Given the description of an element on the screen output the (x, y) to click on. 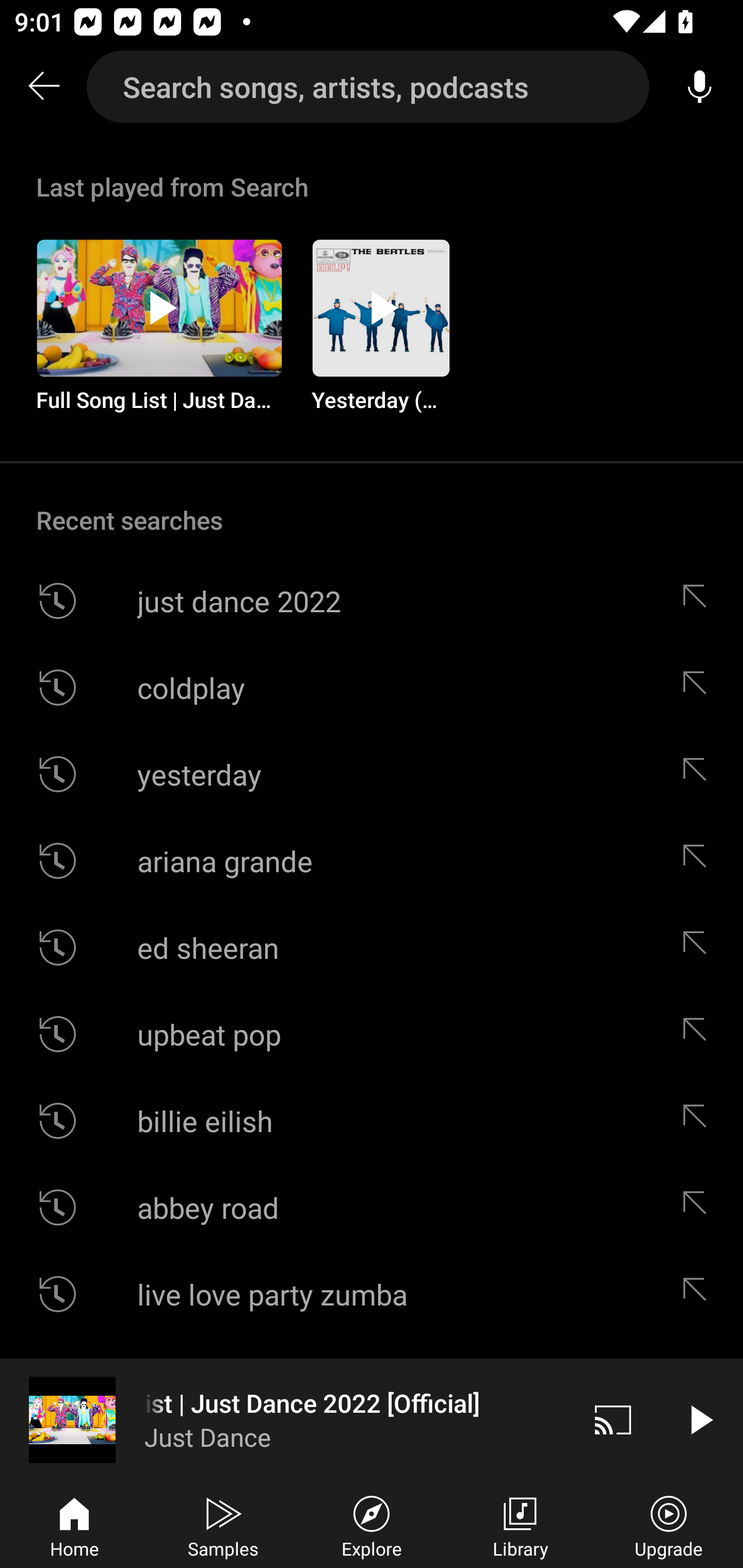
Search back (43, 86)
Search songs, artists, podcasts (367, 86)
Voice search (699, 86)
just dance 2022 Edit suggestion just dance 2022 (371, 601)
Edit suggestion just dance 2022 (699, 601)
coldplay Edit suggestion coldplay (371, 687)
Edit suggestion coldplay (699, 687)
yesterday Edit suggestion yesterday (371, 773)
Edit suggestion yesterday (699, 773)
ariana grande Edit suggestion ariana grande (371, 860)
Edit suggestion ariana grande (699, 860)
ed sheeran Edit suggestion ed sheeran (371, 947)
Edit suggestion ed sheeran (699, 947)
upbeat pop Edit suggestion upbeat pop (371, 1033)
Edit suggestion upbeat pop (699, 1033)
billie eilish Edit suggestion billie eilish (371, 1120)
Edit suggestion billie eilish (699, 1120)
abbey road Edit suggestion abbey road (371, 1207)
Edit suggestion abbey road (699, 1207)
Edit suggestion live love party zumba (699, 1294)
Cast. Disconnected (612, 1419)
Play video (699, 1419)
Home (74, 1524)
Samples (222, 1524)
Explore (371, 1524)
Library (519, 1524)
Upgrade (668, 1524)
